Given the description of an element on the screen output the (x, y) to click on. 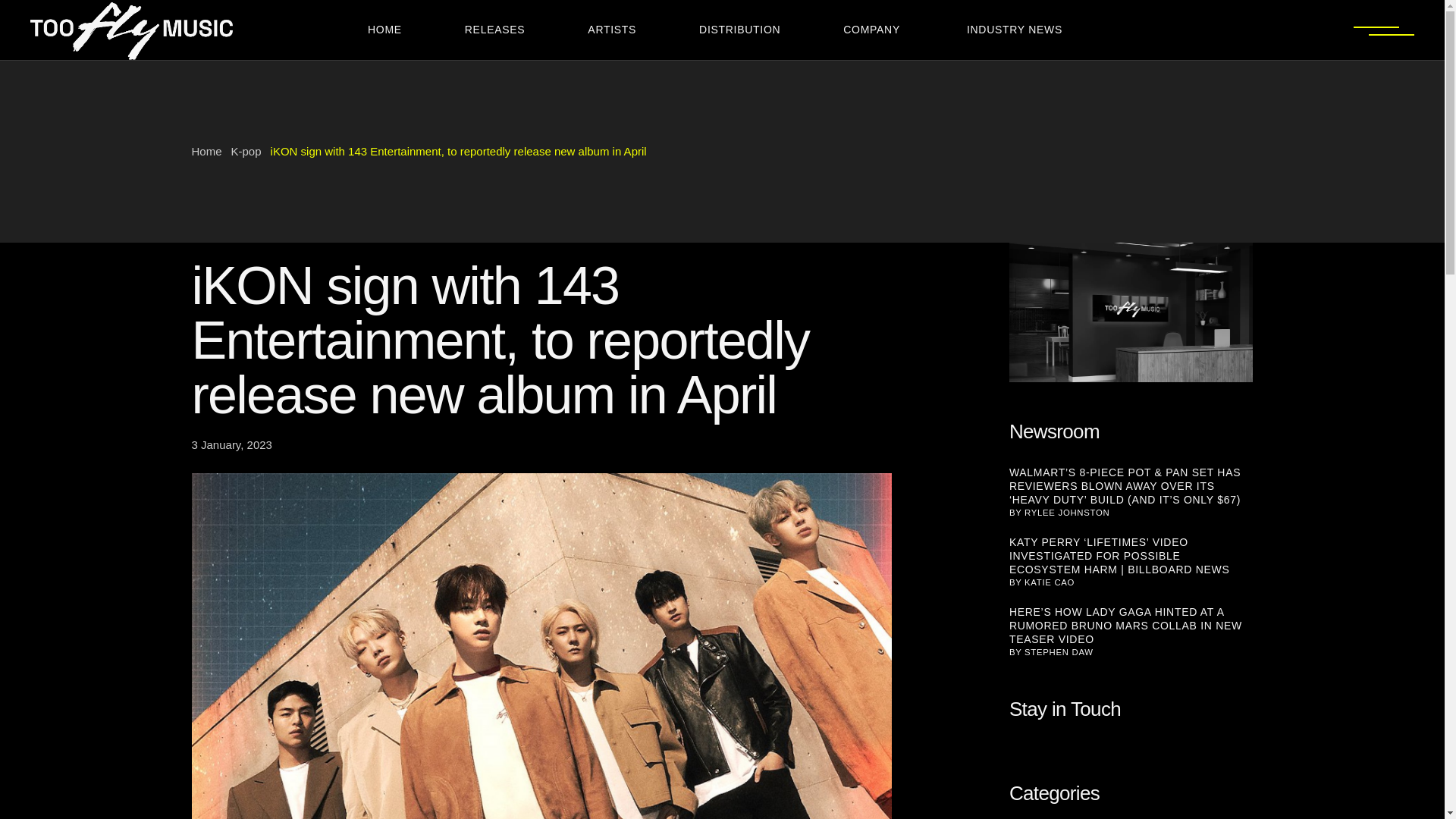
ARTISTS (619, 29)
RELEASES (502, 29)
Title Text:  (230, 444)
K-pop (246, 151)
3 January, 2023 (230, 444)
INDUSTRY NEWS (1019, 29)
Home (205, 151)
DISTRIBUTION (746, 29)
COMPANY (878, 29)
